Given the description of an element on the screen output the (x, y) to click on. 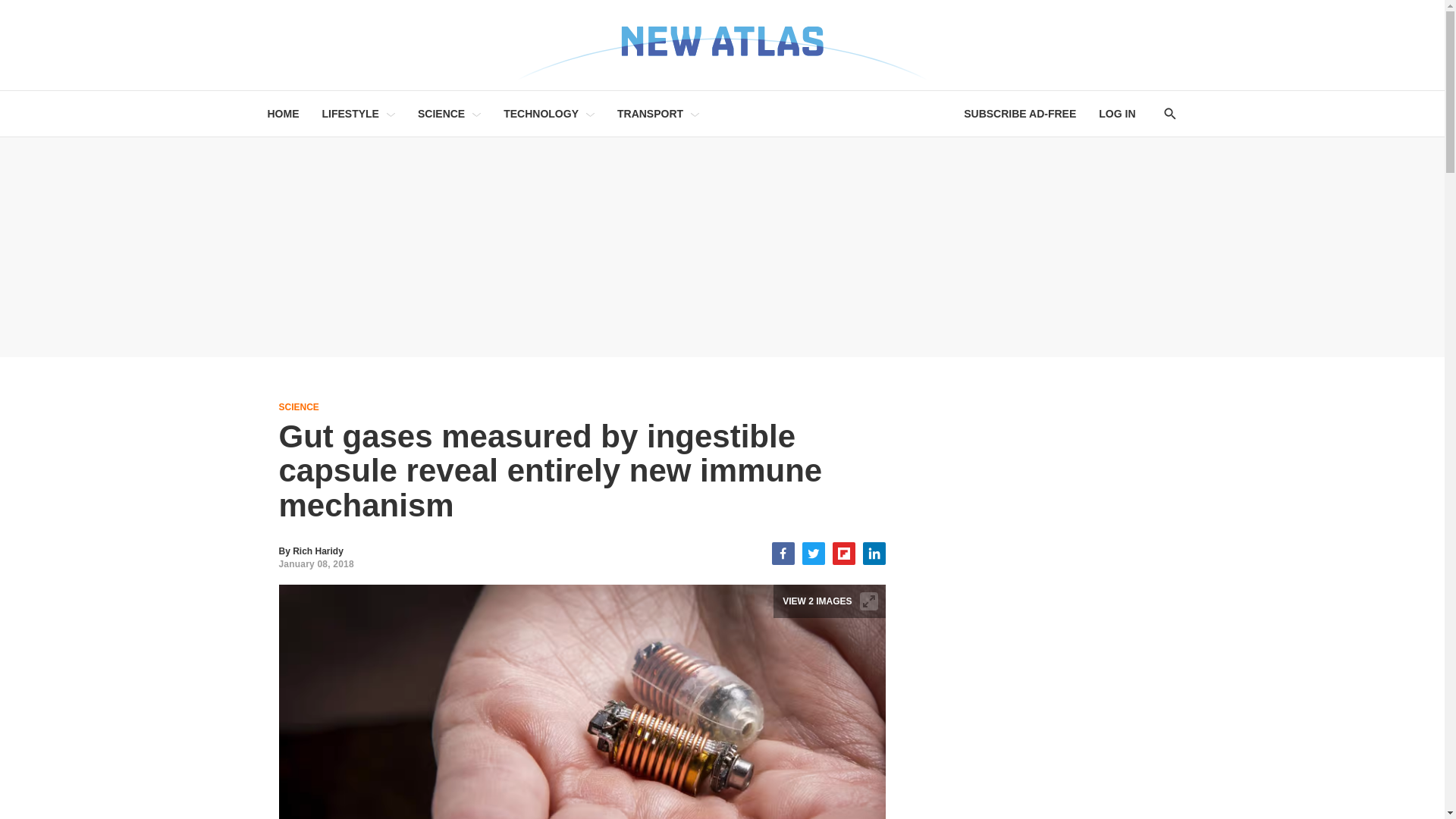
View full-screen (868, 601)
